Given the description of an element on the screen output the (x, y) to click on. 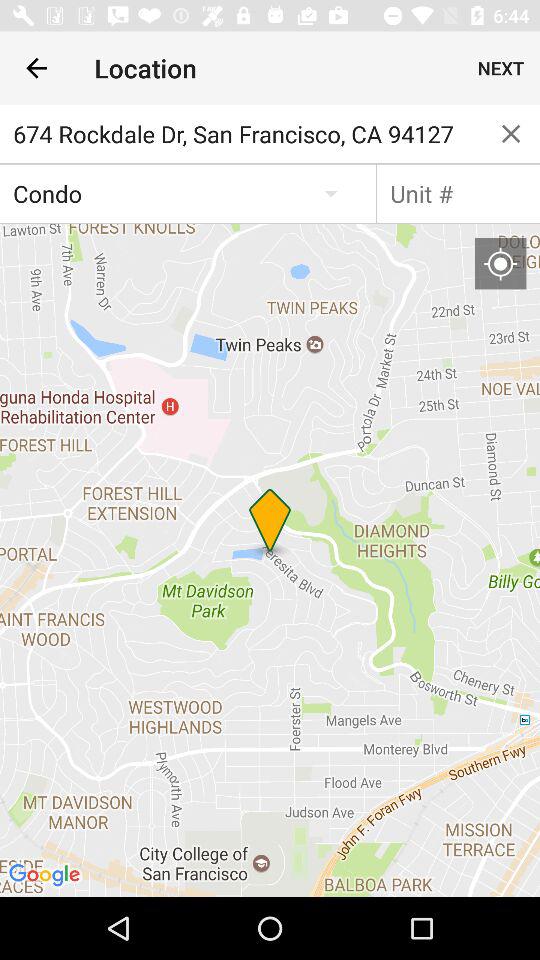
localize home (500, 263)
